Given the description of an element on the screen output the (x, y) to click on. 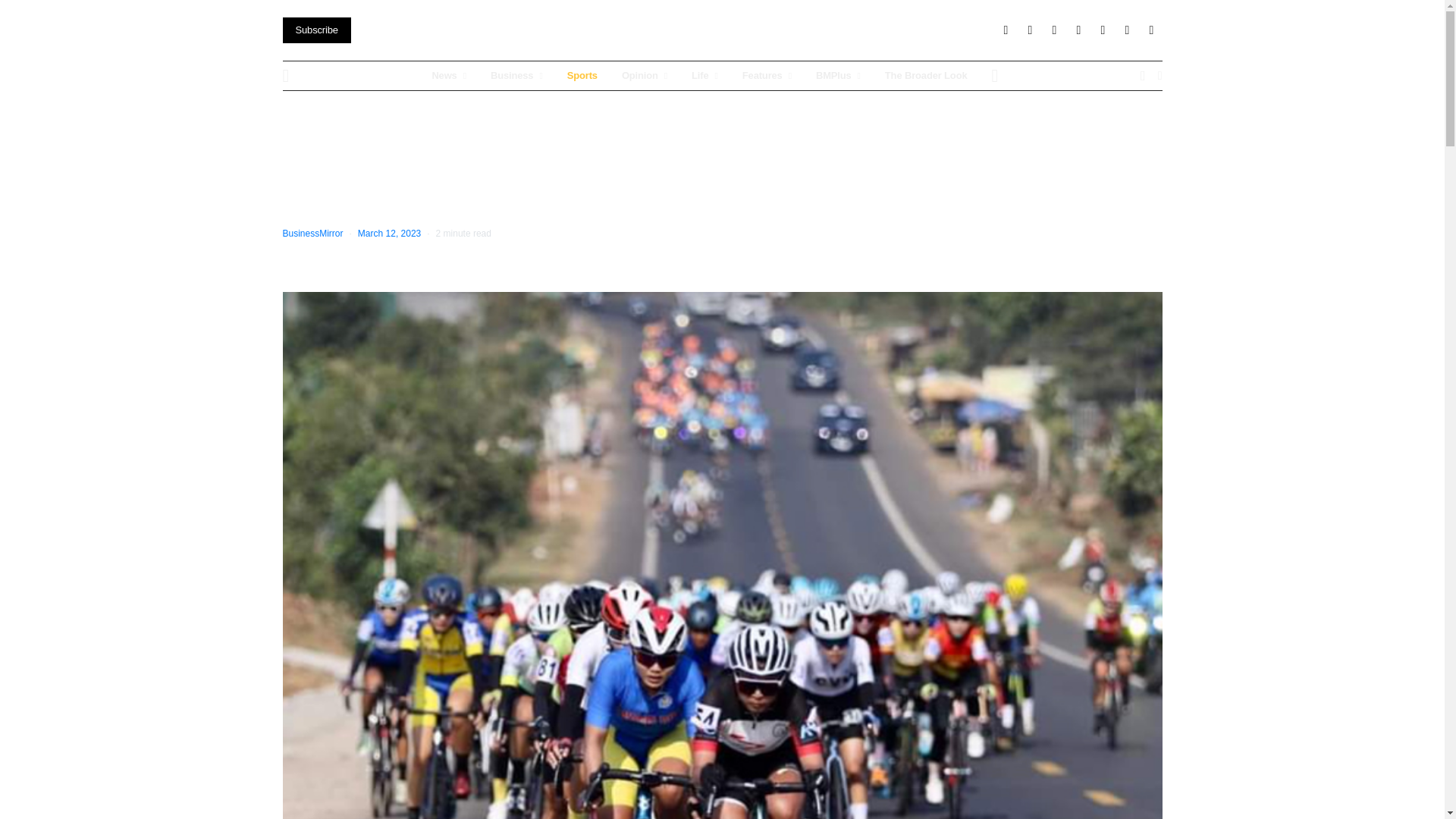
View all posts by BusinessMirror (312, 233)
